Given the description of an element on the screen output the (x, y) to click on. 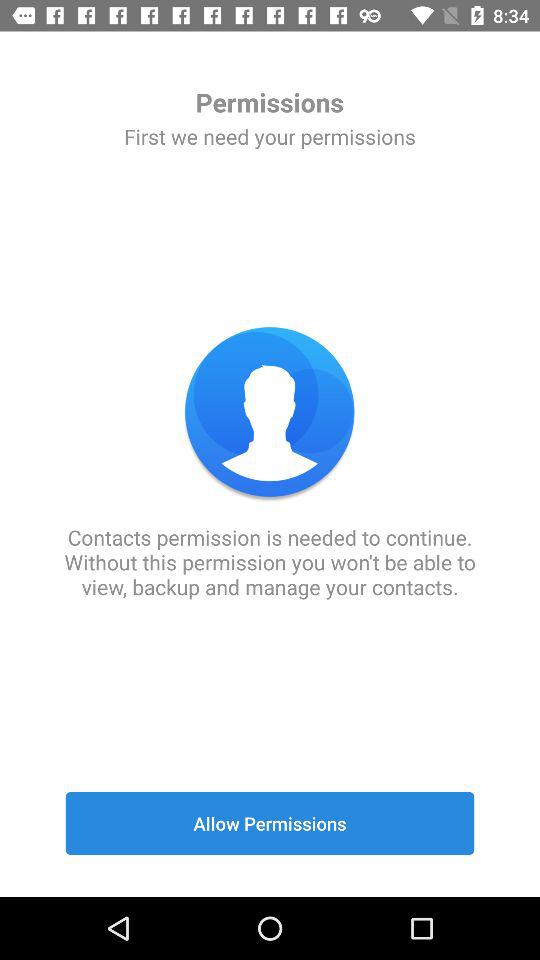
scroll to allow permissions (269, 823)
